Given the description of an element on the screen output the (x, y) to click on. 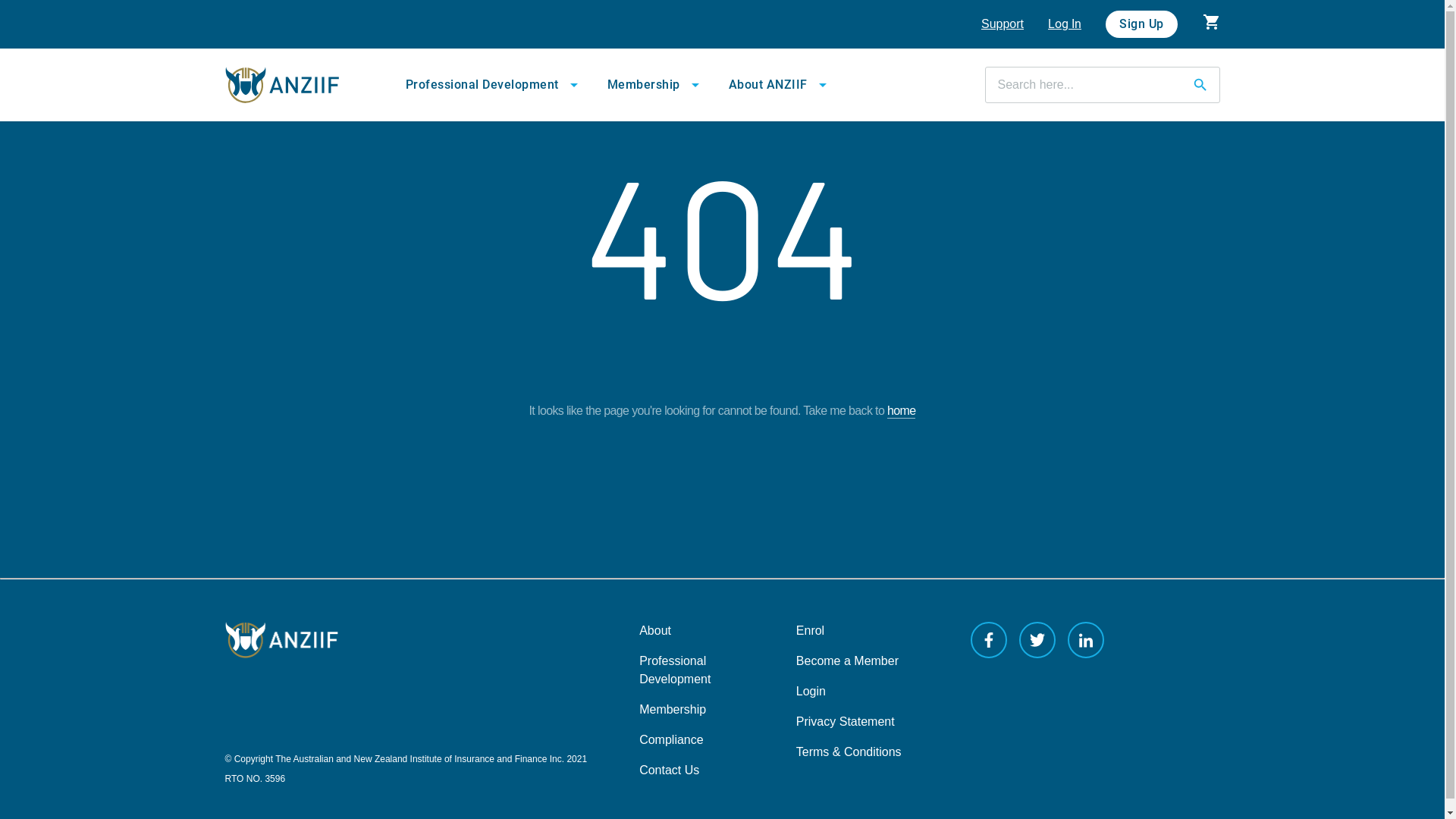
Twitter Element type: hover (1037, 639)
About Element type: text (655, 630)
Professional Development Element type: text (674, 669)
Support Element type: text (1002, 24)
Search Element type: text (1199, 84)
Privacy Statement Element type: text (845, 721)
Login Element type: text (810, 690)
Sign Up Element type: text (1141, 23)
Facebook Element type: hover (988, 639)
ANZIIF Footer Logo Element type: hover (422, 639)
Enrol Element type: text (810, 630)
Membership Element type: text (654, 84)
Become a Member Element type: text (847, 660)
ANZIIF Element type: hover (299, 84)
Professional Development Element type: text (493, 84)
Log In Element type: text (1064, 24)
Terms & Conditions Element type: text (848, 751)
LinkedIn Element type: hover (1085, 639)
About ANZIIF Element type: text (779, 84)
Membership Element type: text (672, 708)
home Element type: text (901, 411)
Contact Us Element type: text (669, 769)
Compliance Element type: text (670, 739)
